Given the description of an element on the screen output the (x, y) to click on. 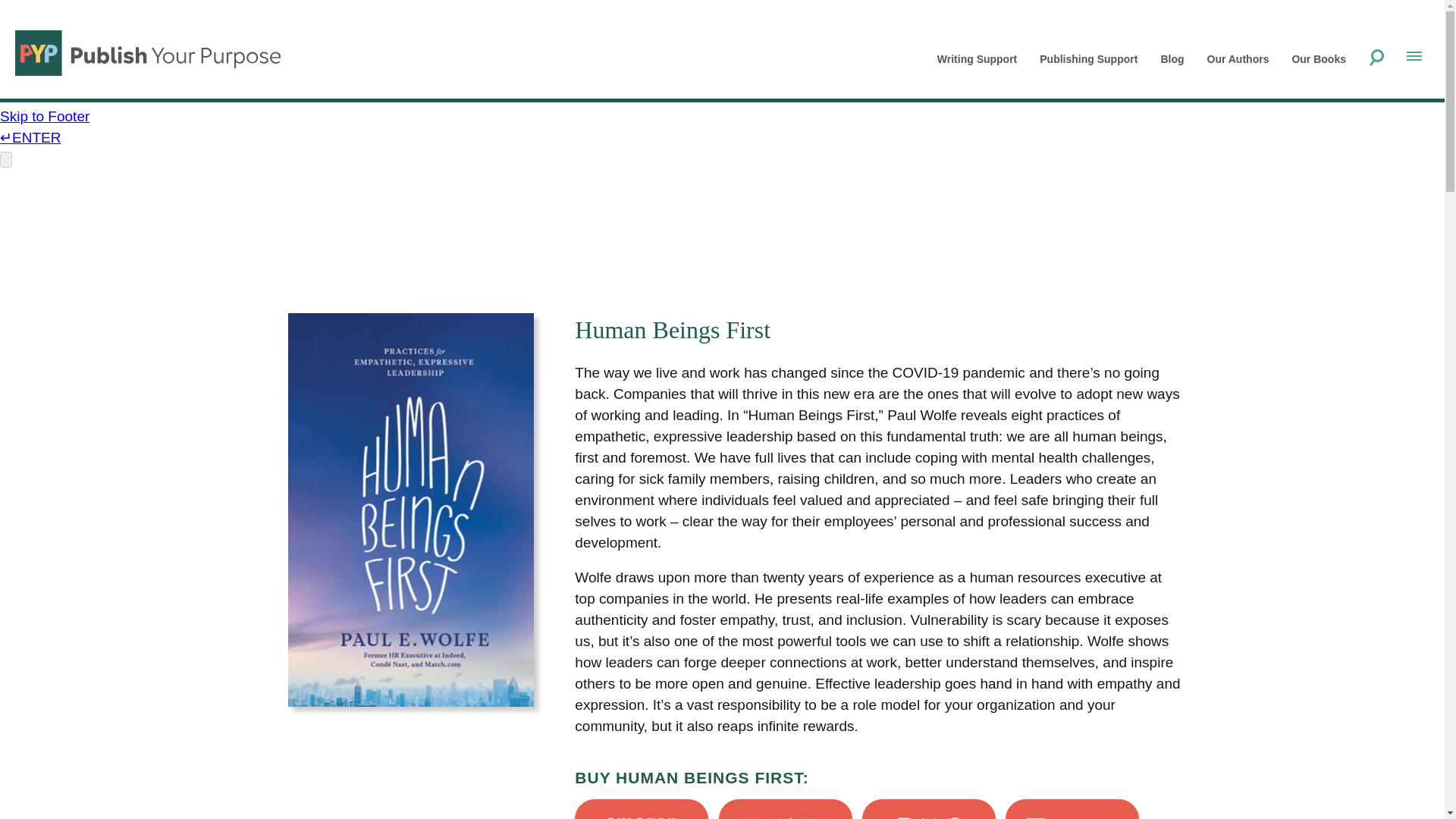
Our Authors (1238, 59)
Publishing Support (1088, 59)
Writing Support (977, 59)
MENU (1414, 58)
Blog (1171, 59)
Our Books (1318, 59)
